Given the description of an element on the screen output the (x, y) to click on. 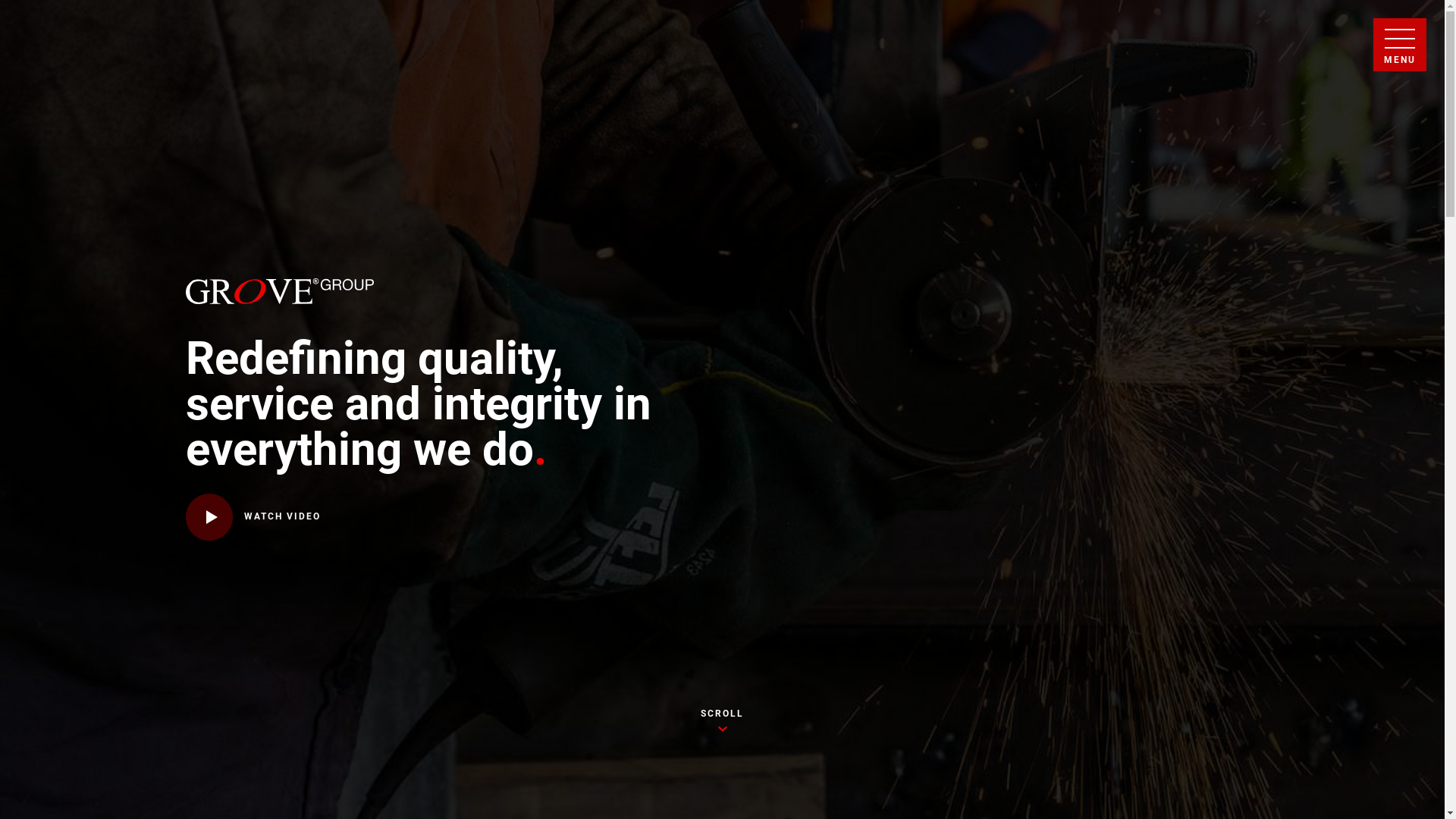
Grove Group Element type: text (279, 291)
WATCH VIDEO Element type: text (252, 516)
SCROLL Element type: text (722, 721)
